Given the description of an element on the screen output the (x, y) to click on. 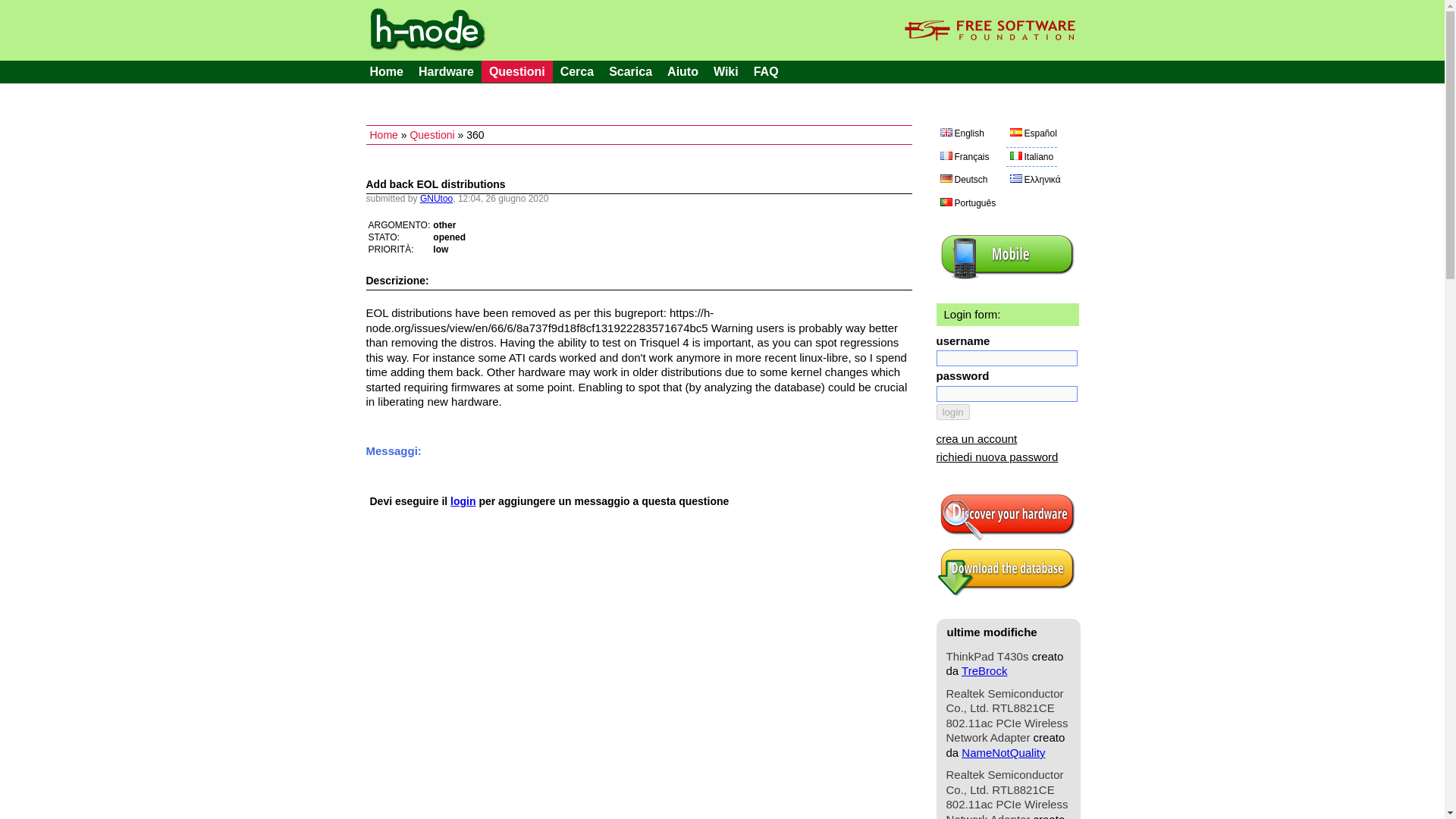
Questioni (431, 134)
Aiuto (682, 71)
FAQ (765, 71)
Wiki (725, 71)
TreBrock (983, 670)
Home (383, 134)
login (952, 412)
Home (386, 71)
GNUtoo (436, 198)
Questioni (517, 71)
